Given the description of an element on the screen output the (x, y) to click on. 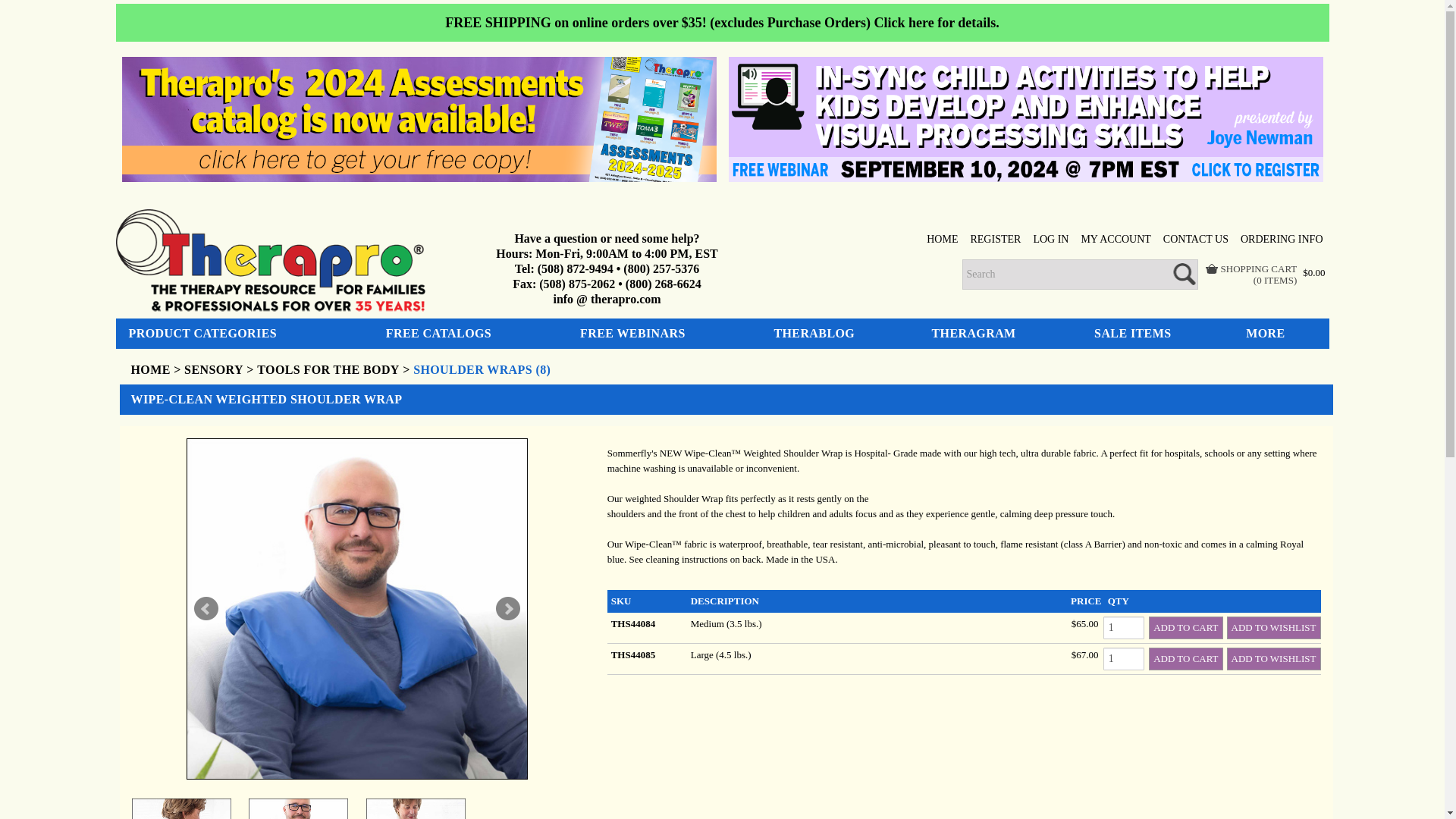
HOME (941, 239)
CONTACT US (1195, 239)
ADD TO CART (1185, 658)
1 (1123, 658)
ADD TO CART (1185, 627)
ADD TO WISHLIST (1273, 658)
1 (1123, 627)
REGISTER (994, 239)
LOG IN (1050, 239)
SHOPPING CART (1250, 268)
ORDERING INFO (1281, 239)
MY ACCOUNT (1115, 239)
ADD TO WISHLIST (1273, 627)
